Given the description of an element on the screen output the (x, y) to click on. 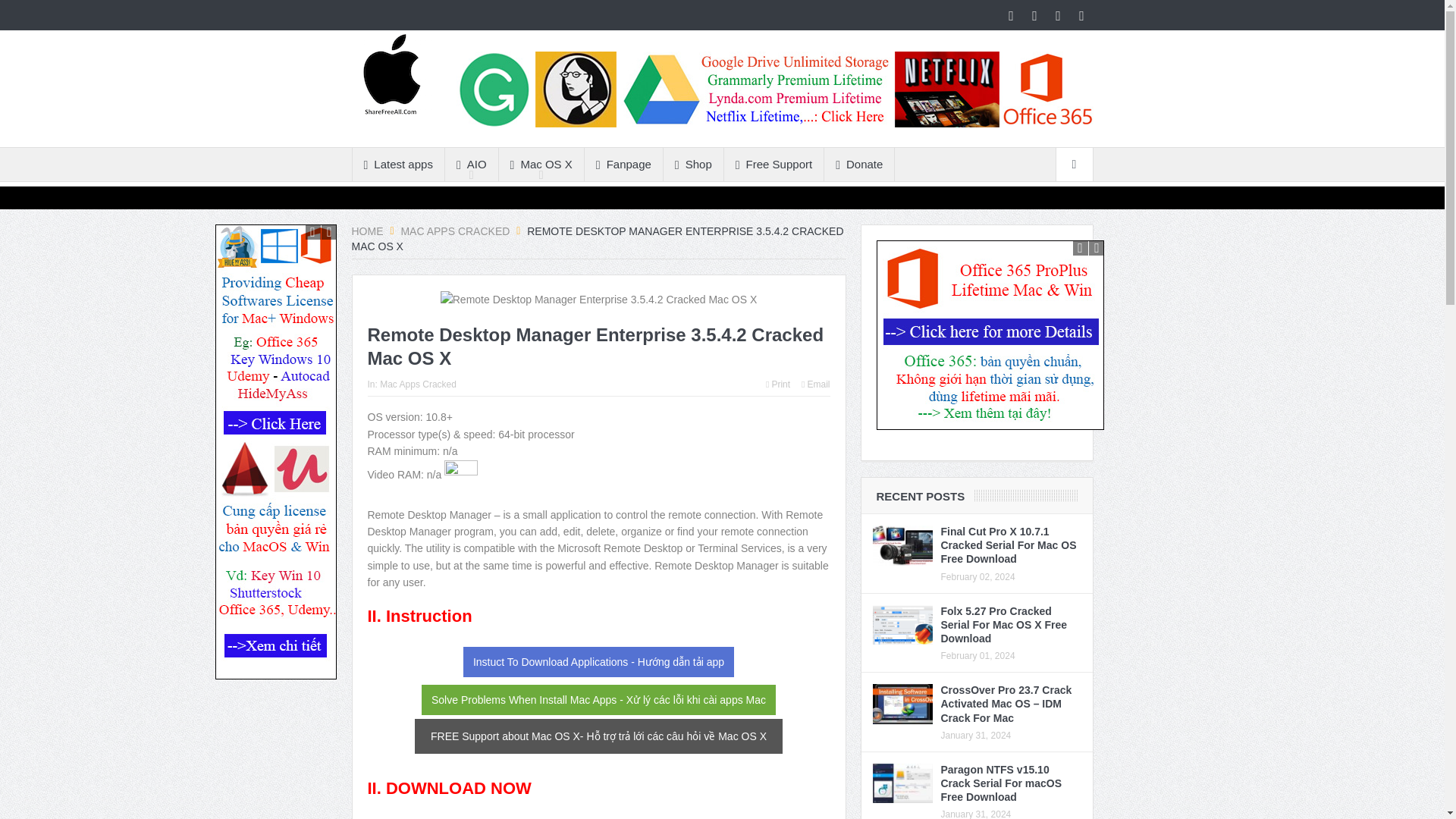
Mac Apps Cracked (454, 231)
Fix all problem for Mac OSX Yosemite (599, 699)
Donate (858, 164)
Latest apps (398, 164)
Mac OS X (541, 164)
Instruction How To Download Apps  (598, 662)
View all posts in Mac Apps Cracked (418, 384)
Fanpage (623, 164)
AIO (471, 164)
Free Support (773, 164)
Shop (693, 164)
